Given the description of an element on the screen output the (x, y) to click on. 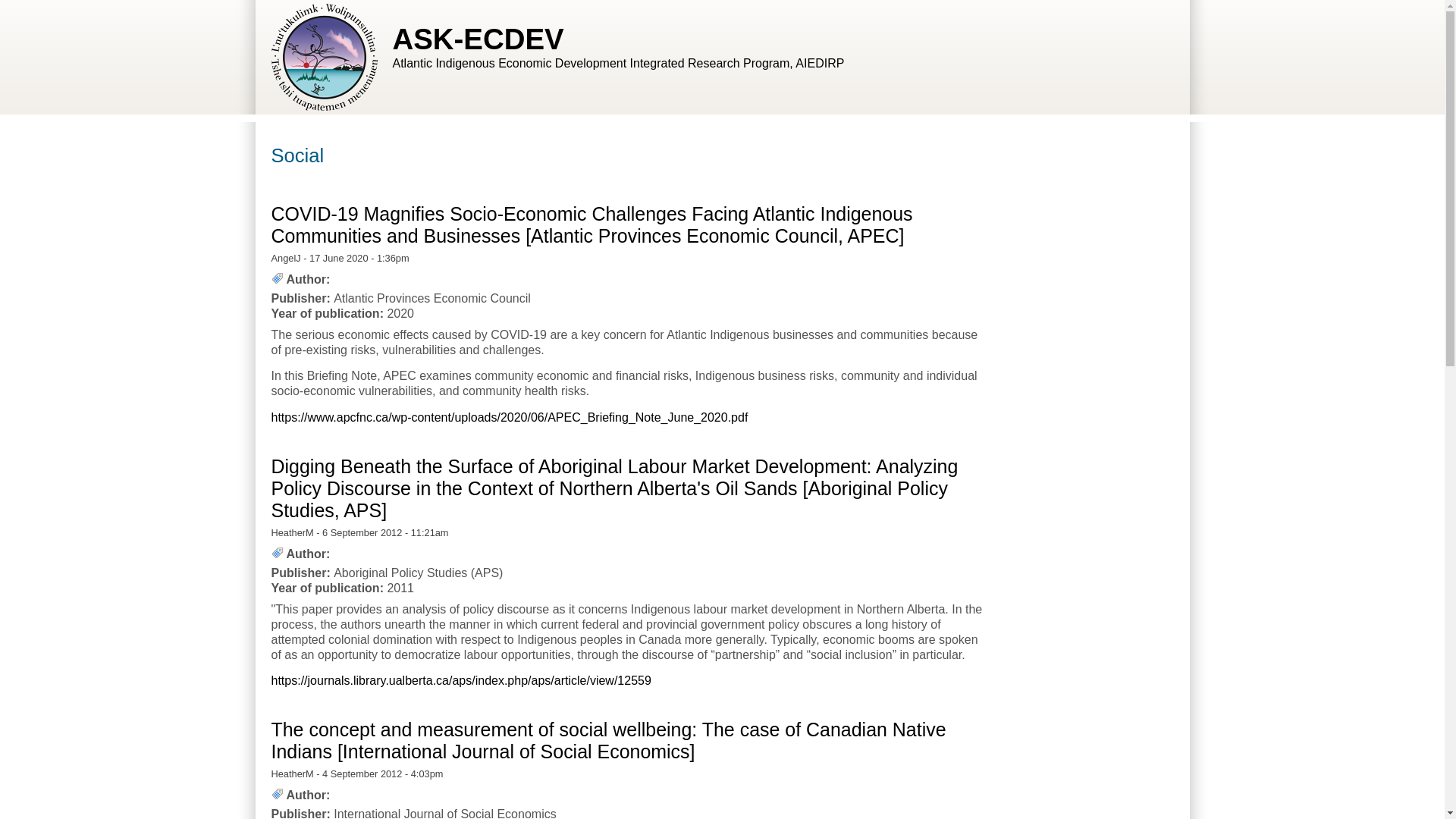
Home (478, 38)
ASK-ECDEV (478, 38)
